Given the description of an element on the screen output the (x, y) to click on. 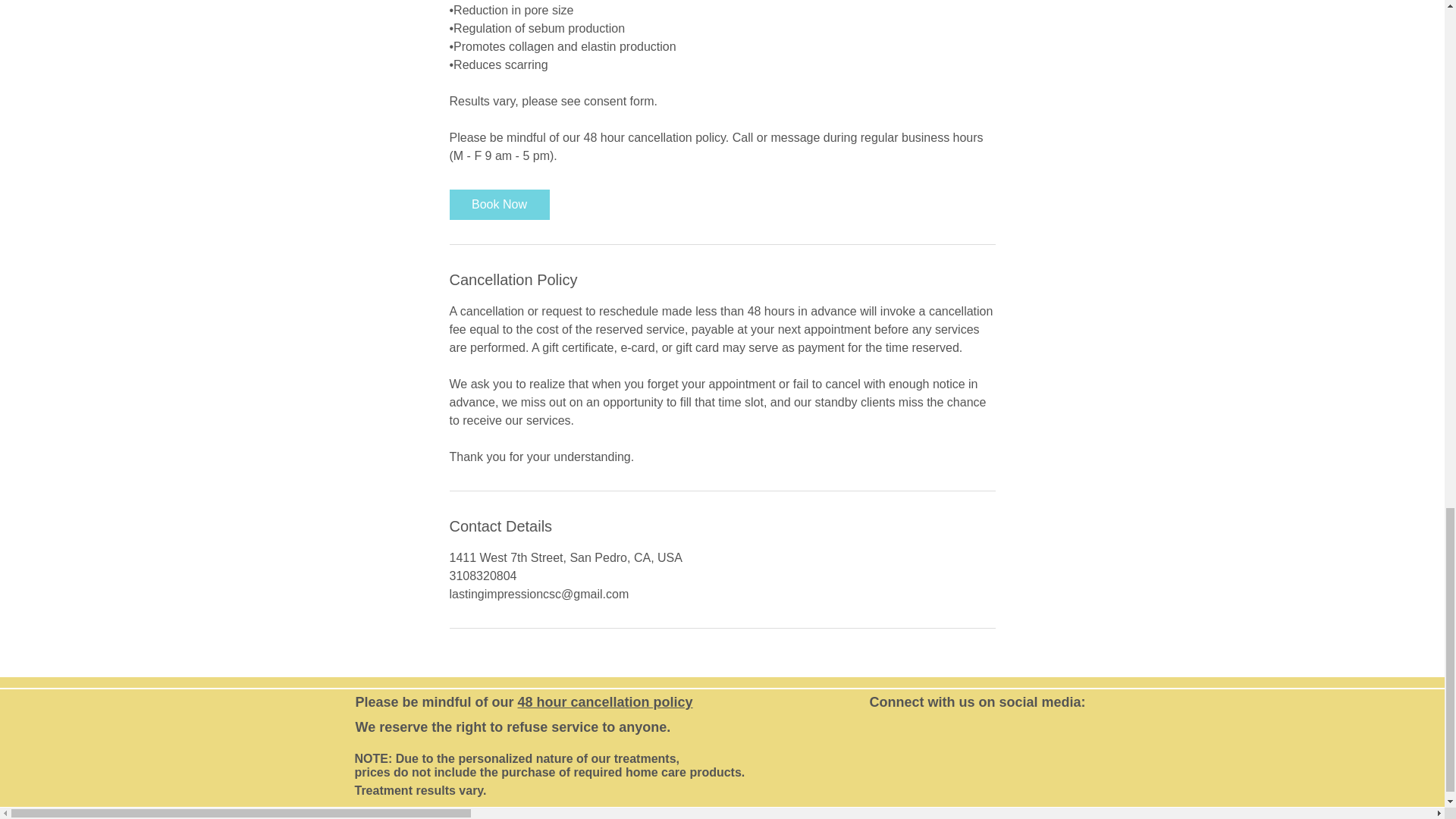
Book Now (498, 204)
48 hour cancellation policy (605, 702)
